Given the description of an element on the screen output the (x, y) to click on. 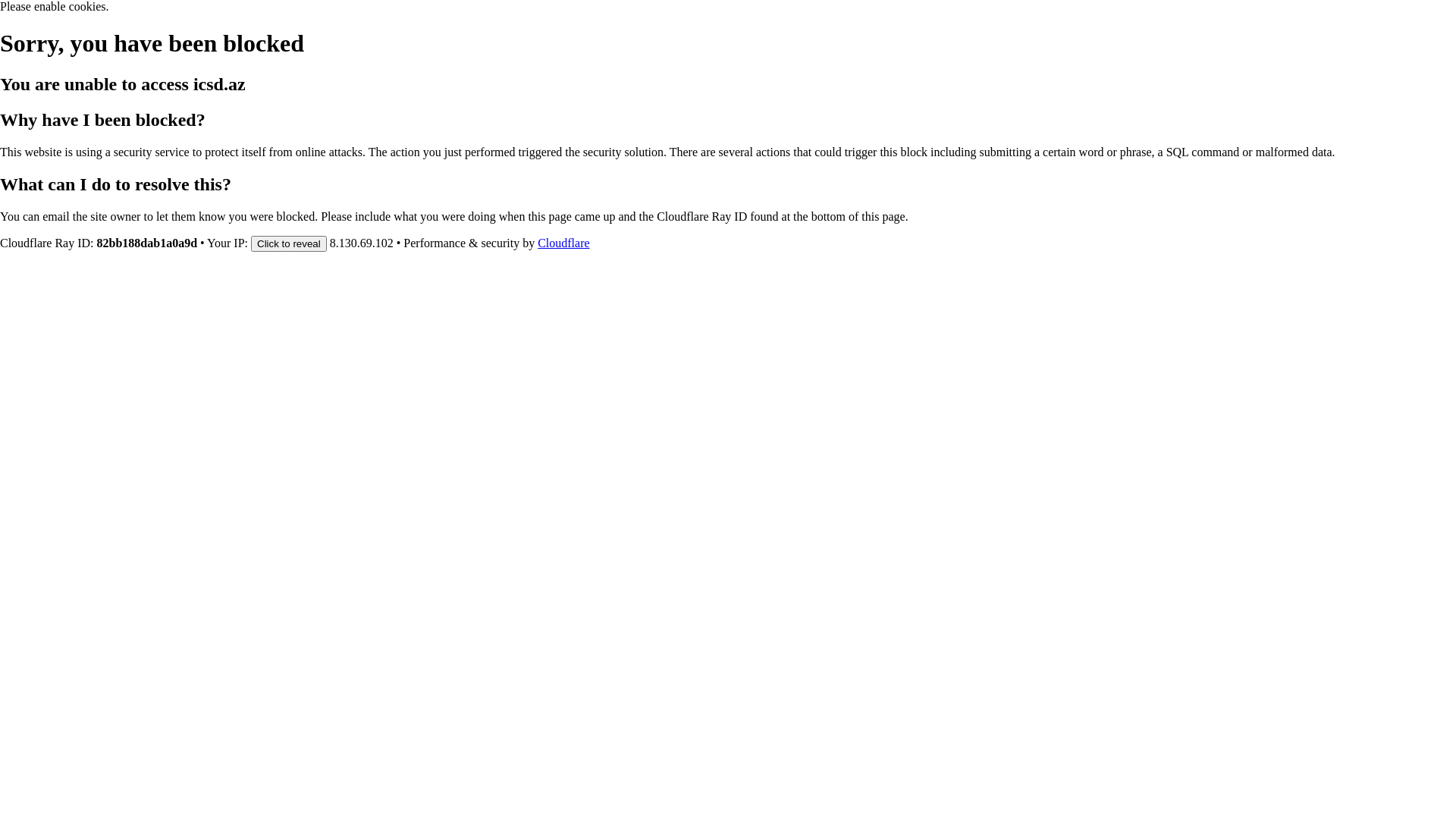
Cloudflare Element type: text (563, 242)
Click to reveal Element type: text (288, 243)
